Given the description of an element on the screen output the (x, y) to click on. 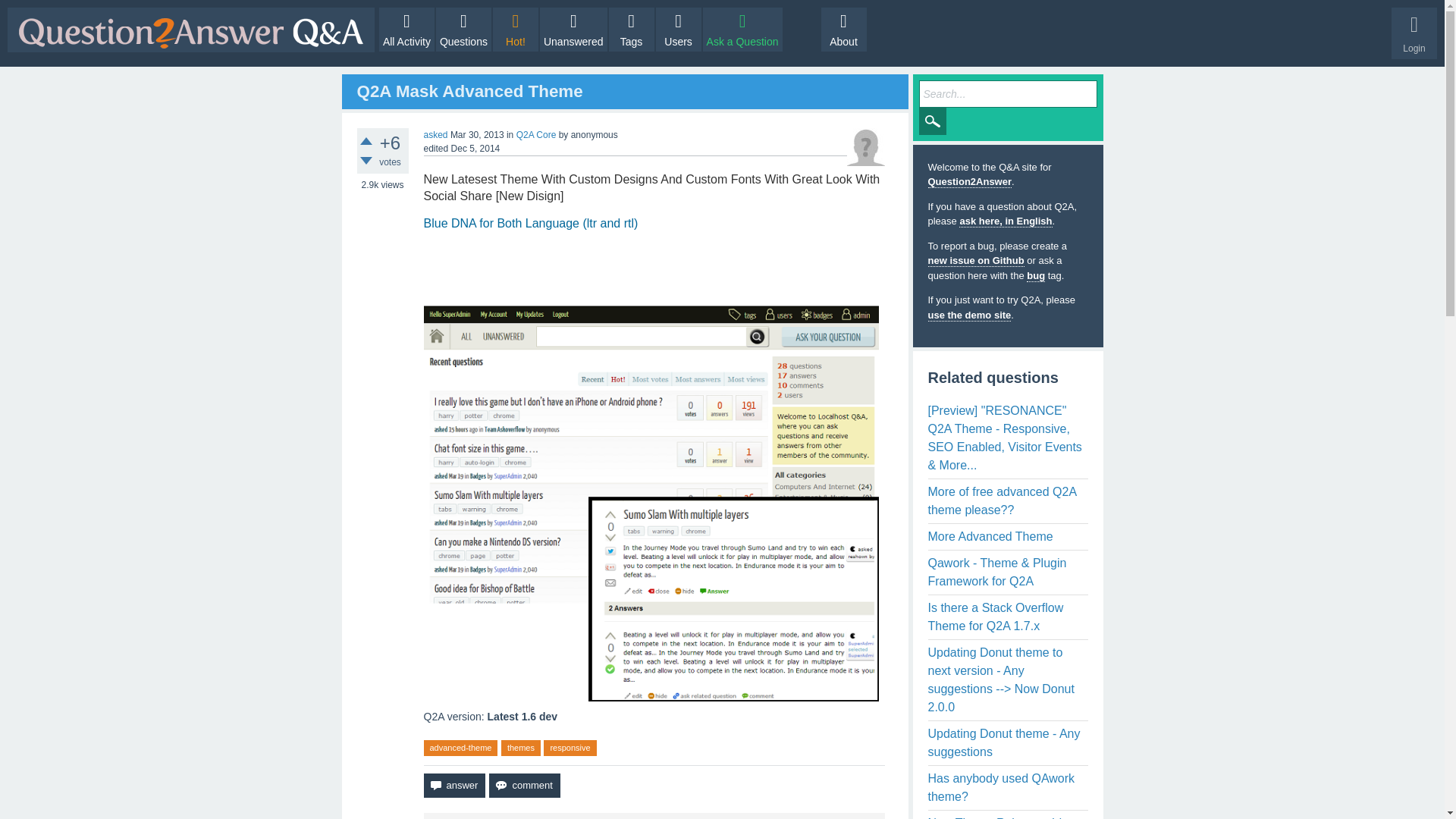
comment (524, 785)
asked (434, 134)
Hot! (515, 29)
Ask a Question (743, 29)
Q2A Mask Advanced Theme (469, 90)
comment (524, 785)
Users (678, 29)
responsive (569, 747)
Add a comment on this question (524, 785)
Q2A Core (536, 134)
